Given the description of an element on the screen output the (x, y) to click on. 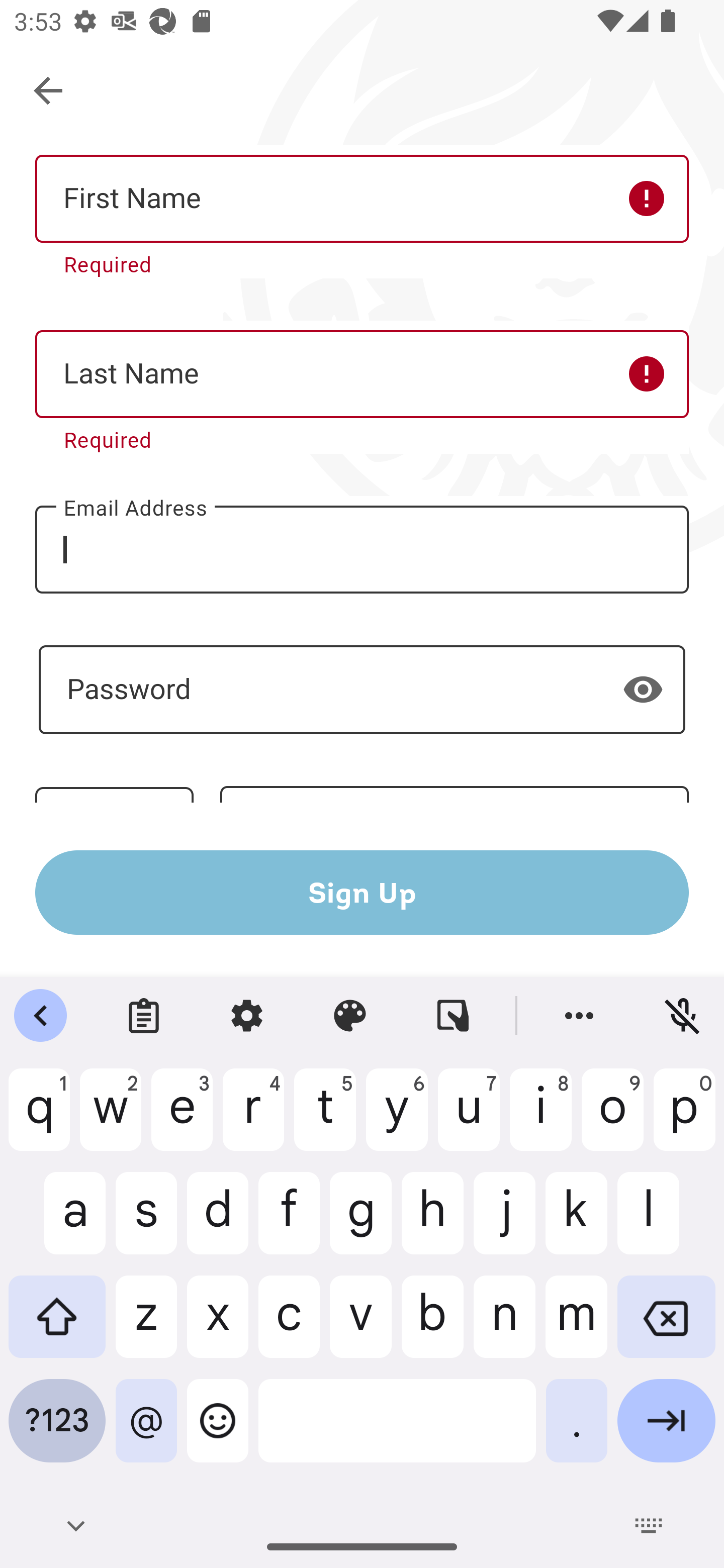
Navigate up (49, 91)
First Name - Required (361, 199)
Last Name - Required (361, 374)
Email Address - Required (361, 549)
- Required (361, 689)
Show password (642, 689)
Sign Up (361, 891)
